Given the description of an element on the screen output the (x, y) to click on. 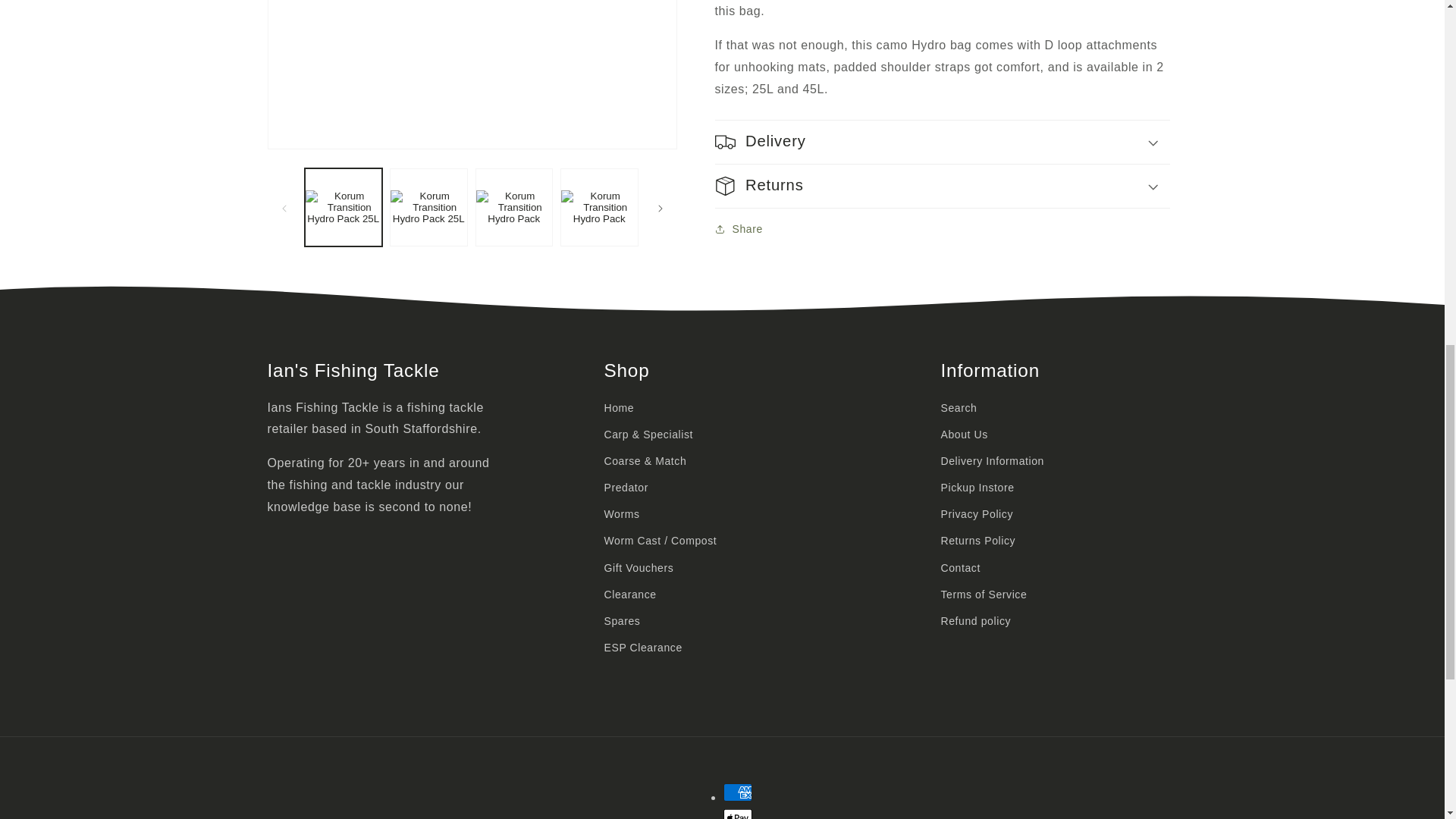
Apple Pay (737, 814)
American Express (737, 791)
